Given the description of an element on the screen output the (x, y) to click on. 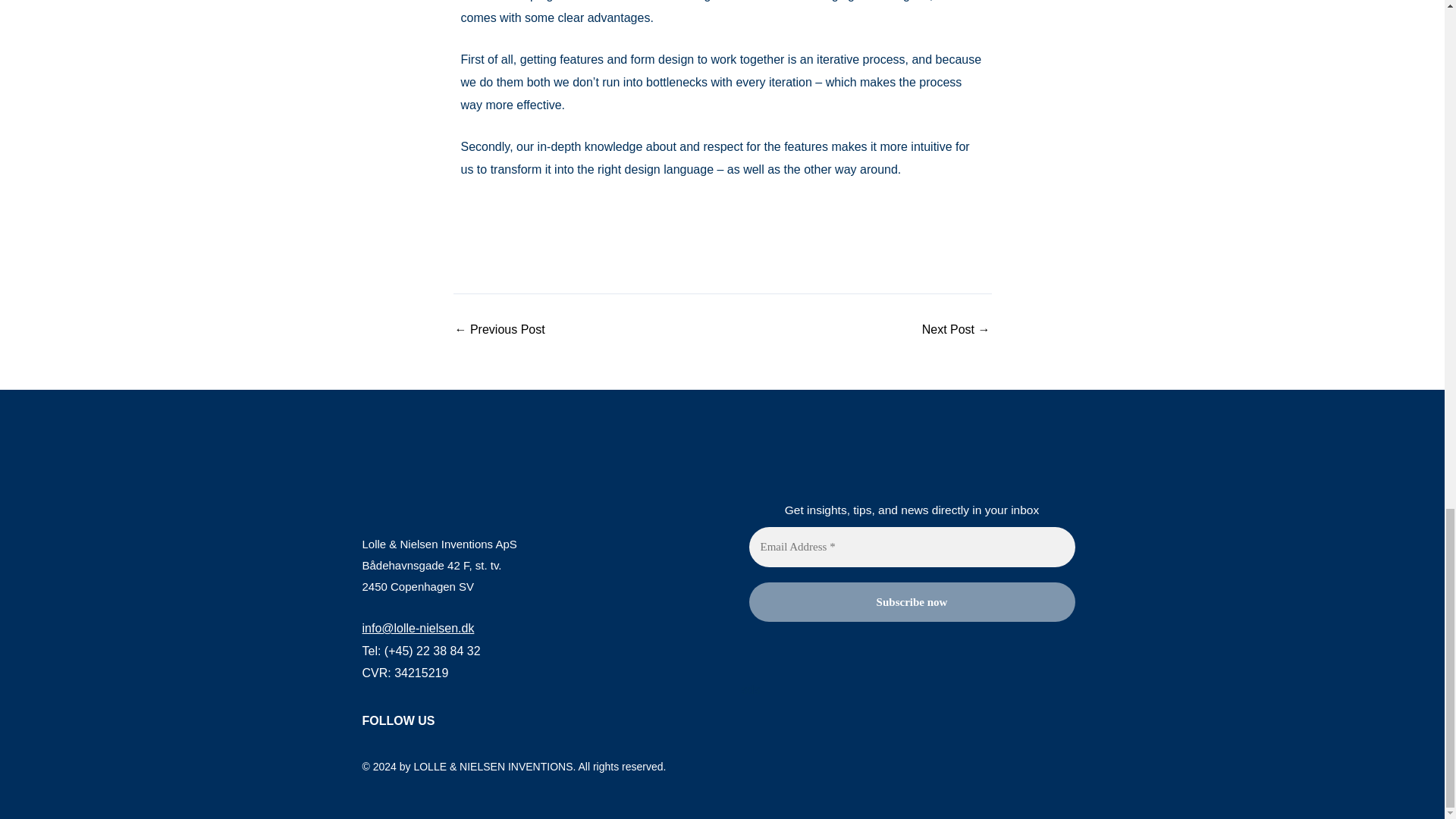
Slippers: The only company uniform we have (499, 329)
Email Address (912, 547)
Subscribe now (912, 602)
Subscribe now (912, 602)
